Given the description of an element on the screen output the (x, y) to click on. 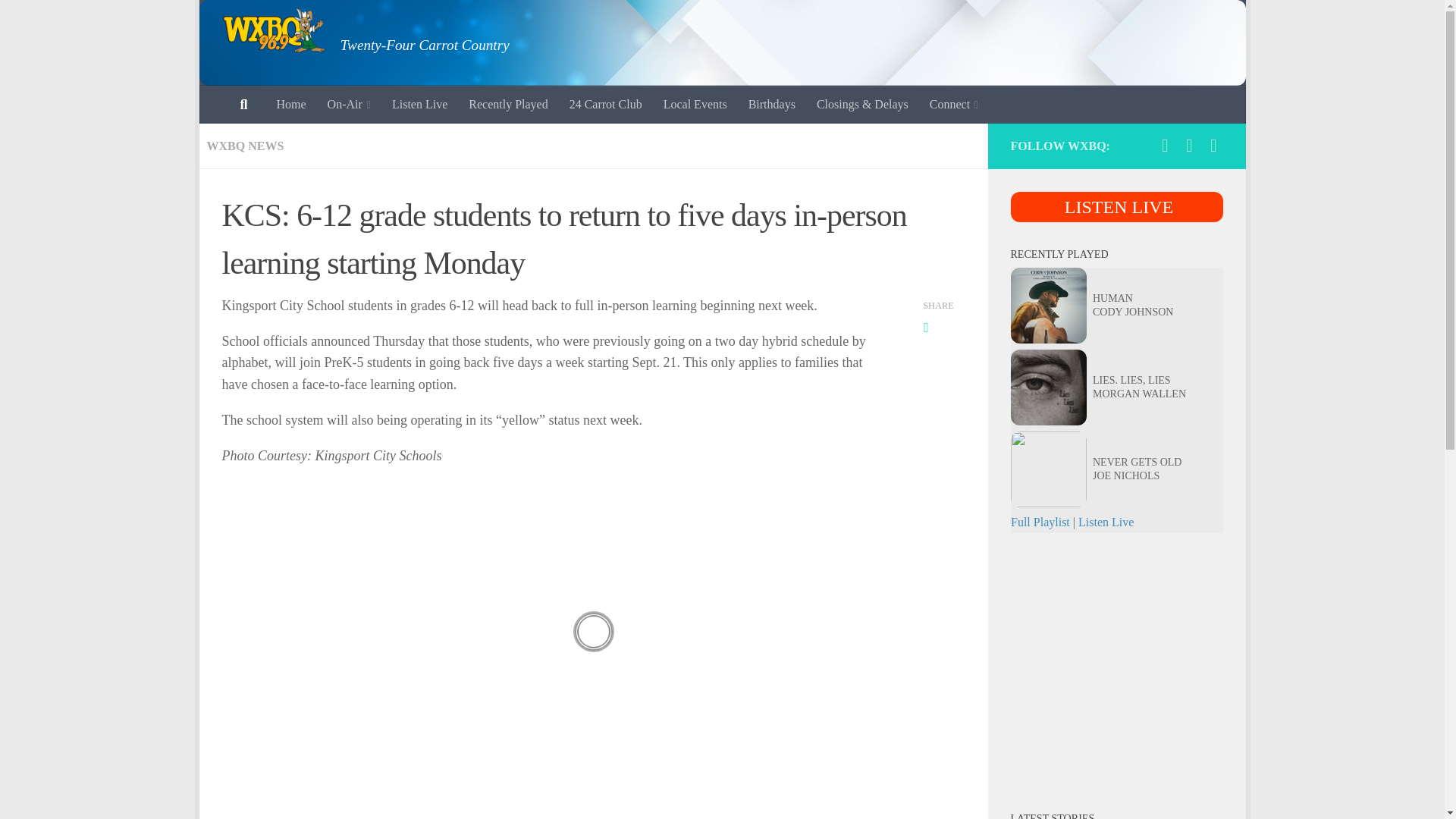
Local Events (695, 104)
24 Carrot Club (605, 104)
Recently Played (507, 104)
Follow us on Instagram (1213, 145)
Listen Live (419, 104)
Follow us on Facebook (1164, 145)
Home (289, 104)
On-Air (349, 104)
Follow us on Twitter (1188, 145)
Birthdays (772, 104)
